Given the description of an element on the screen output the (x, y) to click on. 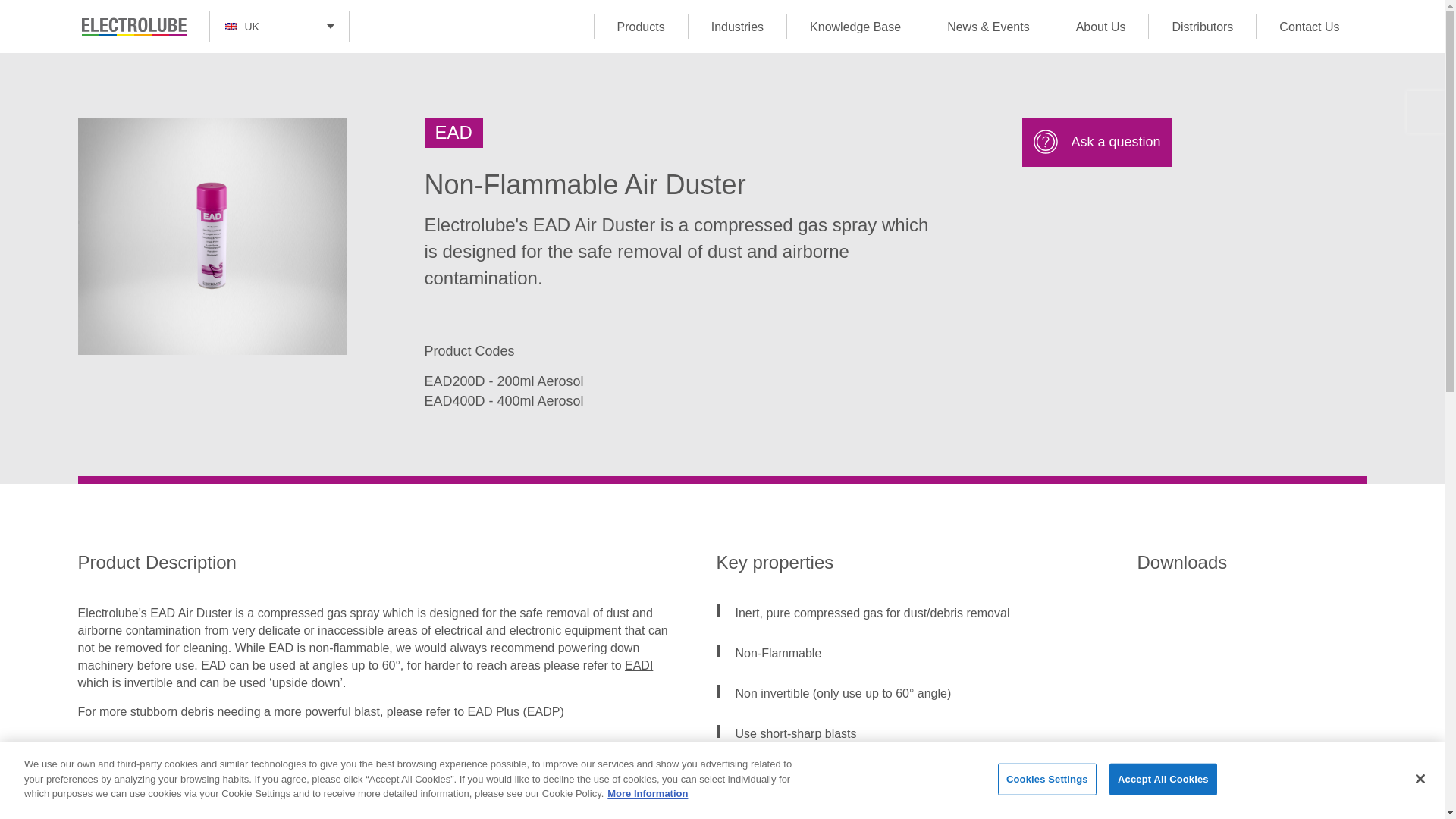
UK (278, 26)
Contact Us (1308, 25)
UK (278, 26)
Ask a question about this product (1097, 142)
UK (279, 26)
Distributors (1201, 25)
Knowledge Base (854, 25)
About Us (1100, 25)
Industries (736, 25)
Products (640, 25)
